Given the description of an element on the screen output the (x, y) to click on. 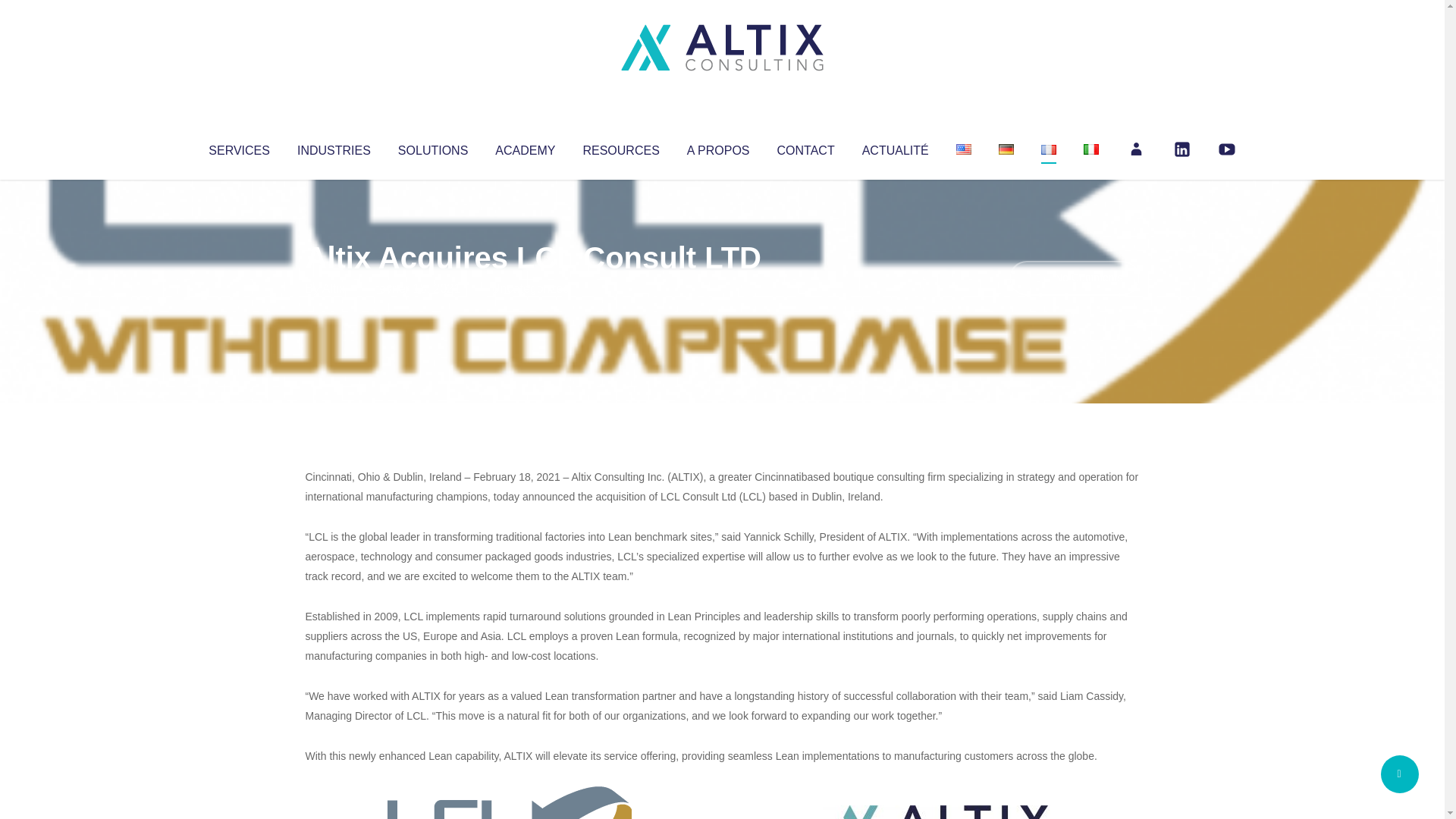
No Comments (1073, 278)
Uncategorized (530, 287)
ACADEMY (524, 146)
SERVICES (238, 146)
RESOURCES (620, 146)
Altix (333, 287)
A PROPOS (718, 146)
Articles par Altix (333, 287)
SOLUTIONS (432, 146)
INDUSTRIES (334, 146)
